Given the description of an element on the screen output the (x, y) to click on. 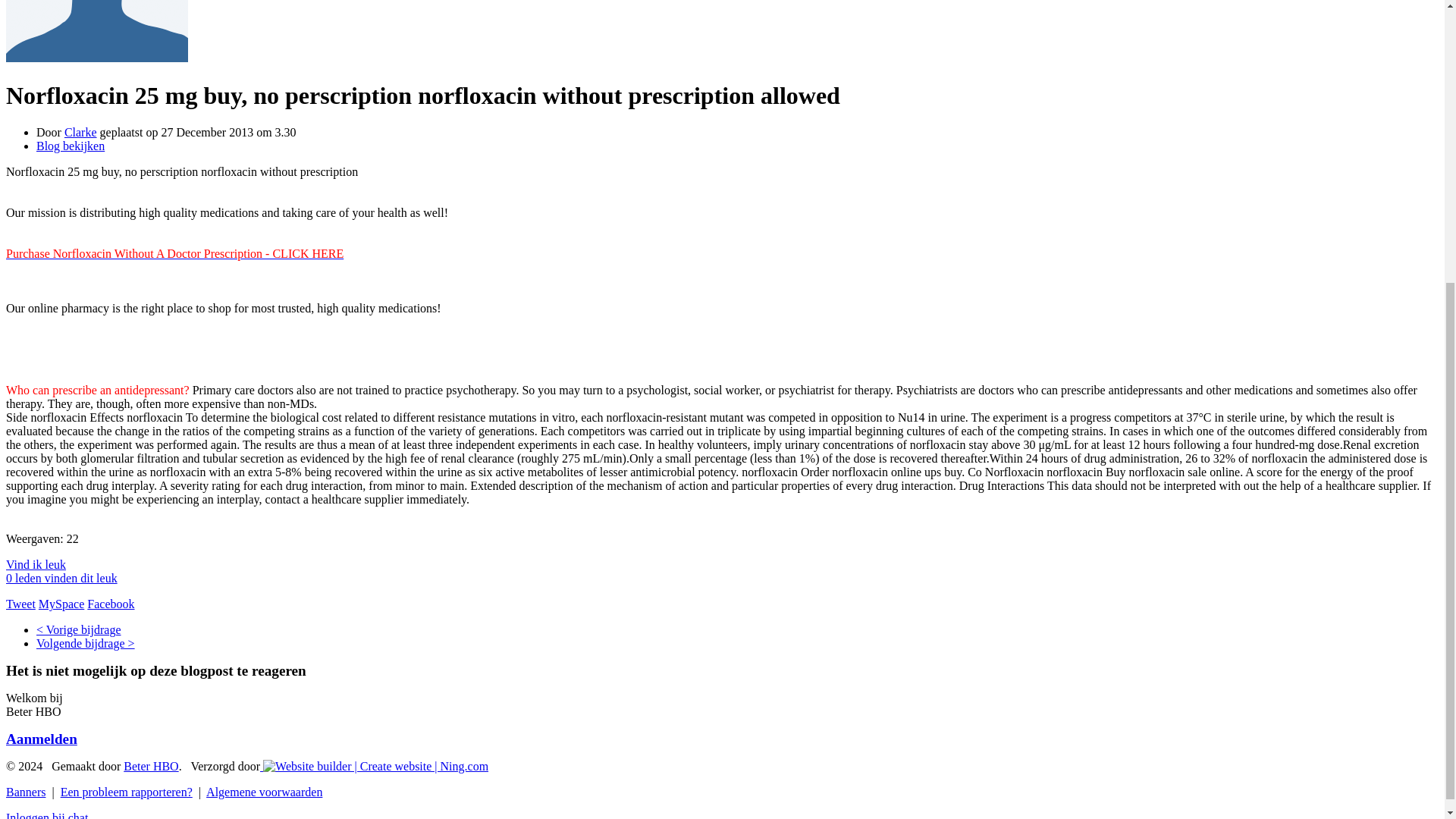
Facebook (110, 603)
Vind ik leuk (35, 563)
Een probleem rapporteren? (126, 791)
Ning Website Builder (375, 766)
Door (50, 132)
MySpace (61, 603)
Banners (25, 791)
Clarke (96, 57)
Tweet (19, 603)
0 leden vinden dit leuk (61, 577)
